Given the description of an element on the screen output the (x, y) to click on. 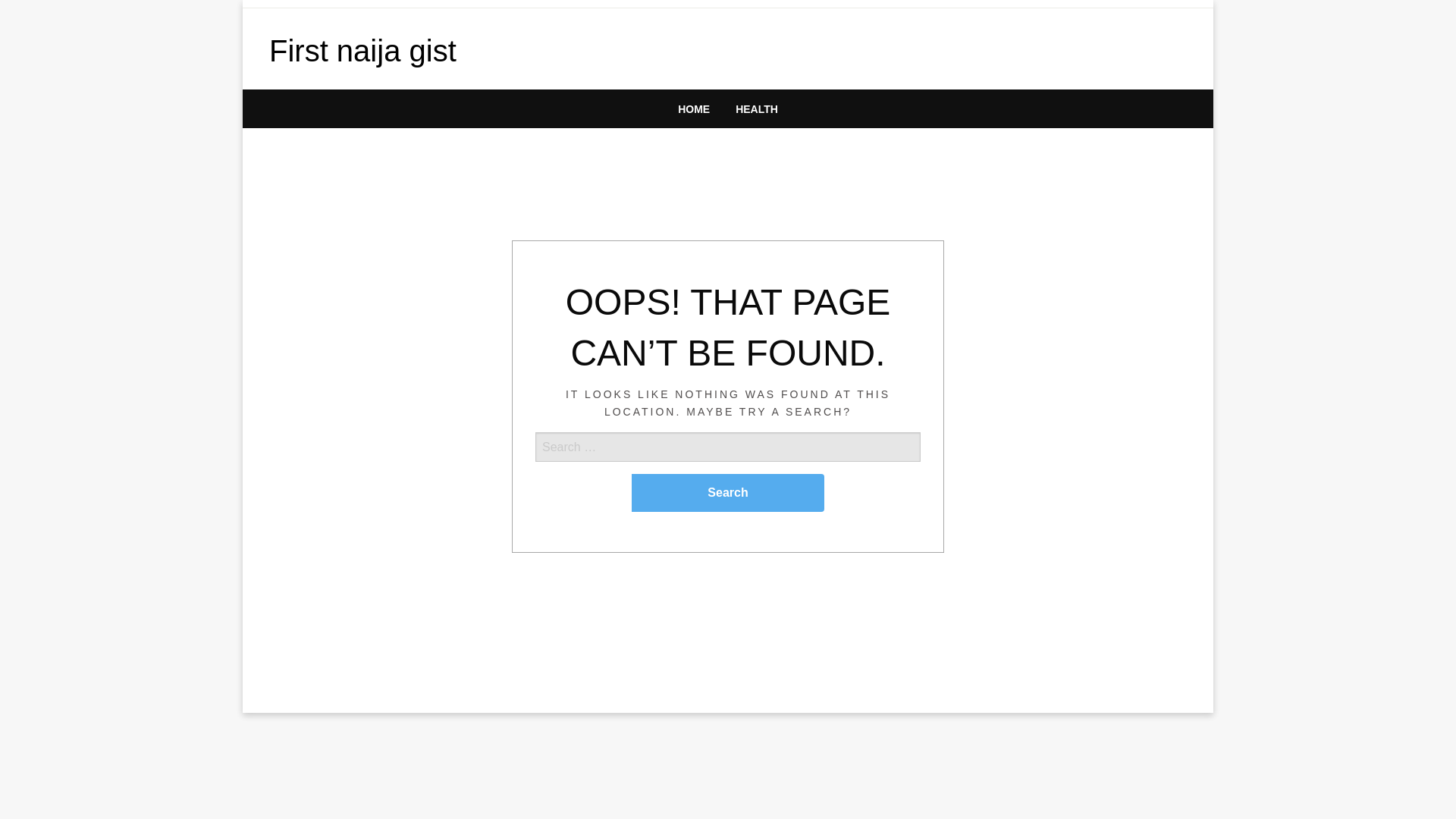
First naija gist (363, 50)
Search for: (727, 471)
HOME (693, 108)
Theme by Silk Themes (322, 692)
Search (727, 492)
HEALTH (756, 108)
Search (727, 492)
Search (727, 492)
